Given the description of an element on the screen output the (x, y) to click on. 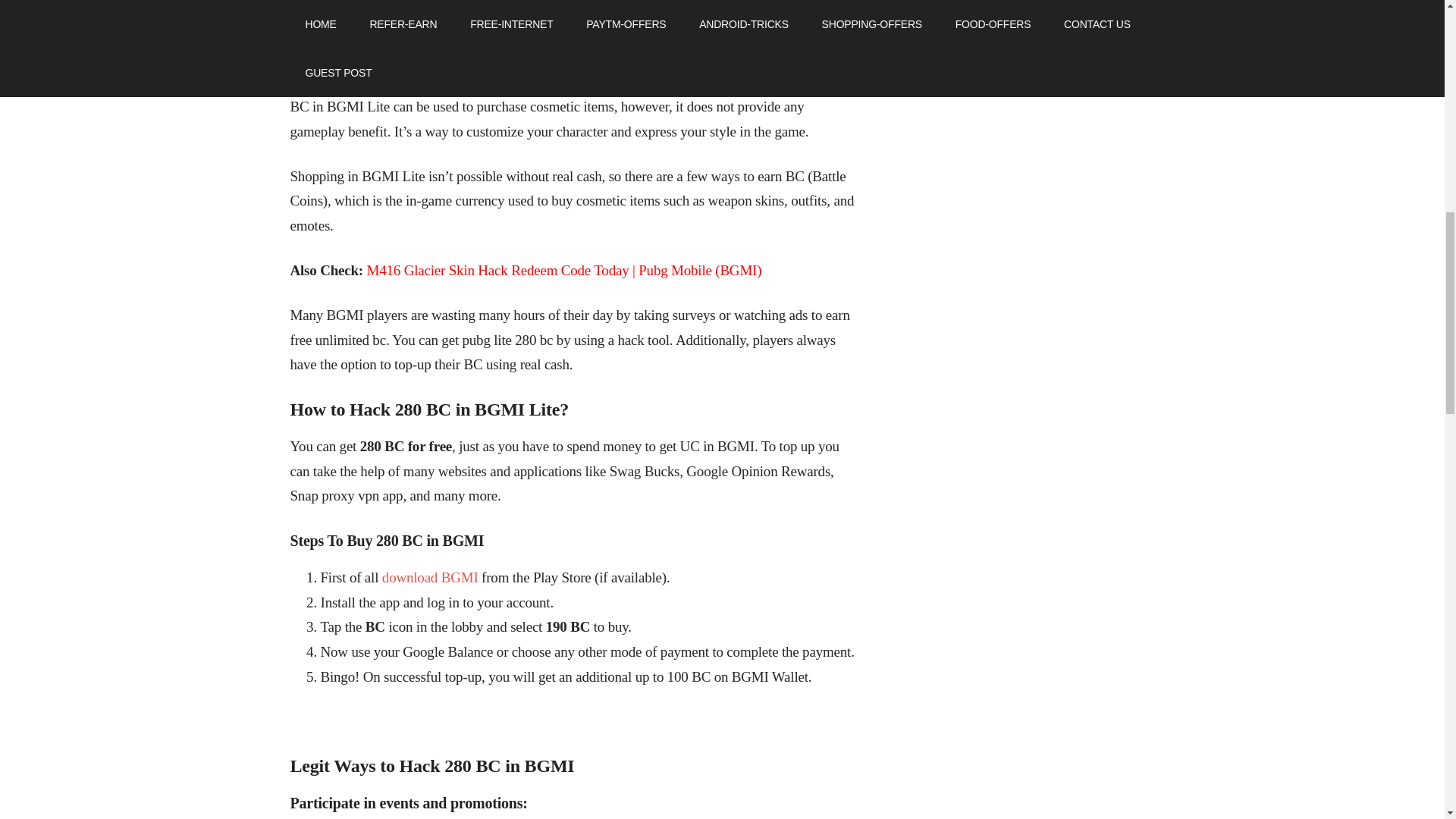
download BGMI (430, 577)
